Given the description of an element on the screen output the (x, y) to click on. 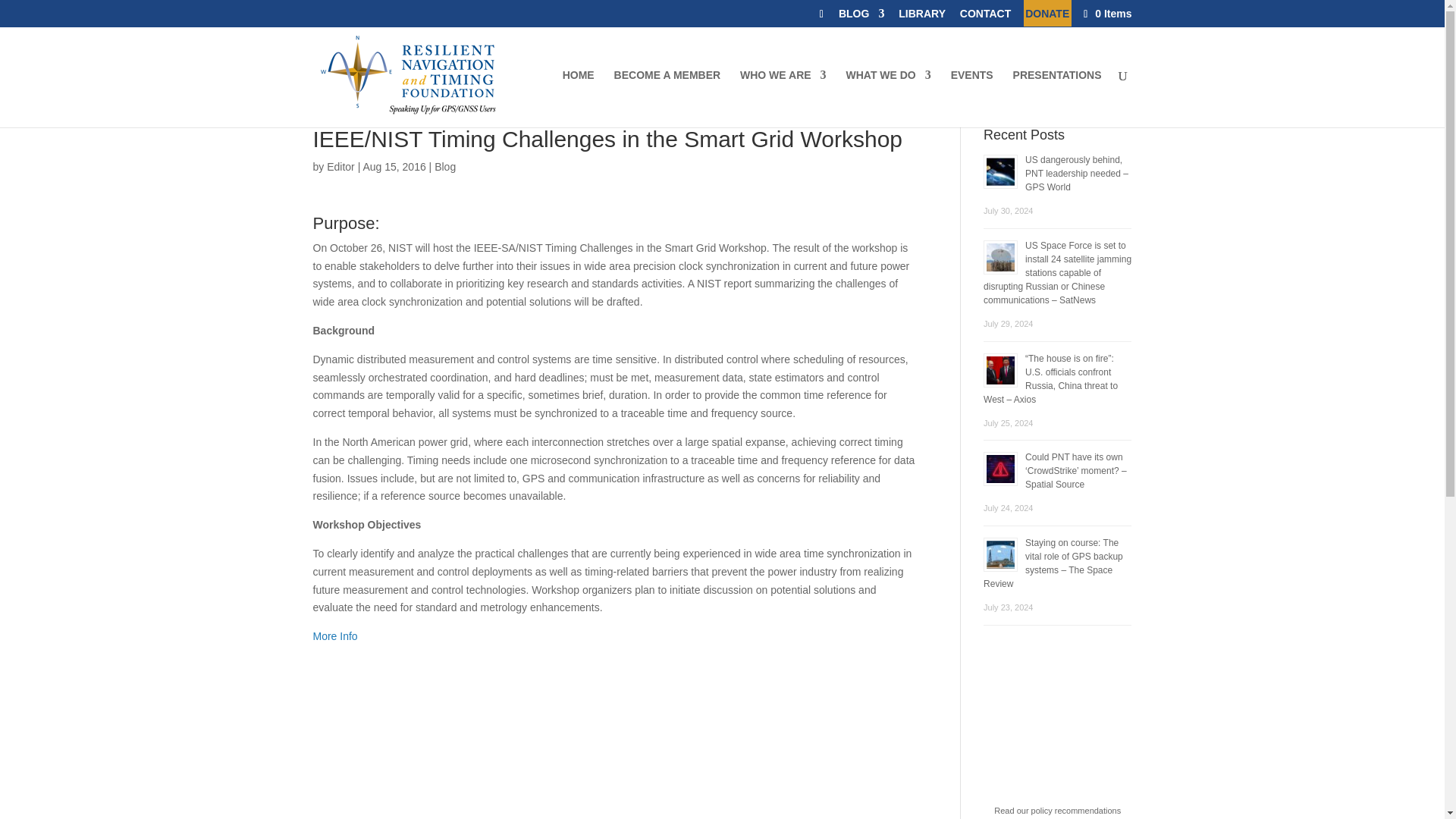
PRESENTATIONS (1057, 98)
DONATE (1046, 16)
Blog (444, 166)
CONTACT (984, 16)
Posts by Editor (340, 166)
BECOME A MEMBER (667, 98)
More Info (334, 635)
LIBRARY (921, 16)
Read our policy recommendations (1057, 809)
0 Items (1105, 13)
BLOG (860, 16)
WHO WE ARE (783, 98)
WHAT WE DO (887, 98)
Editor (340, 166)
